Given the description of an element on the screen output the (x, y) to click on. 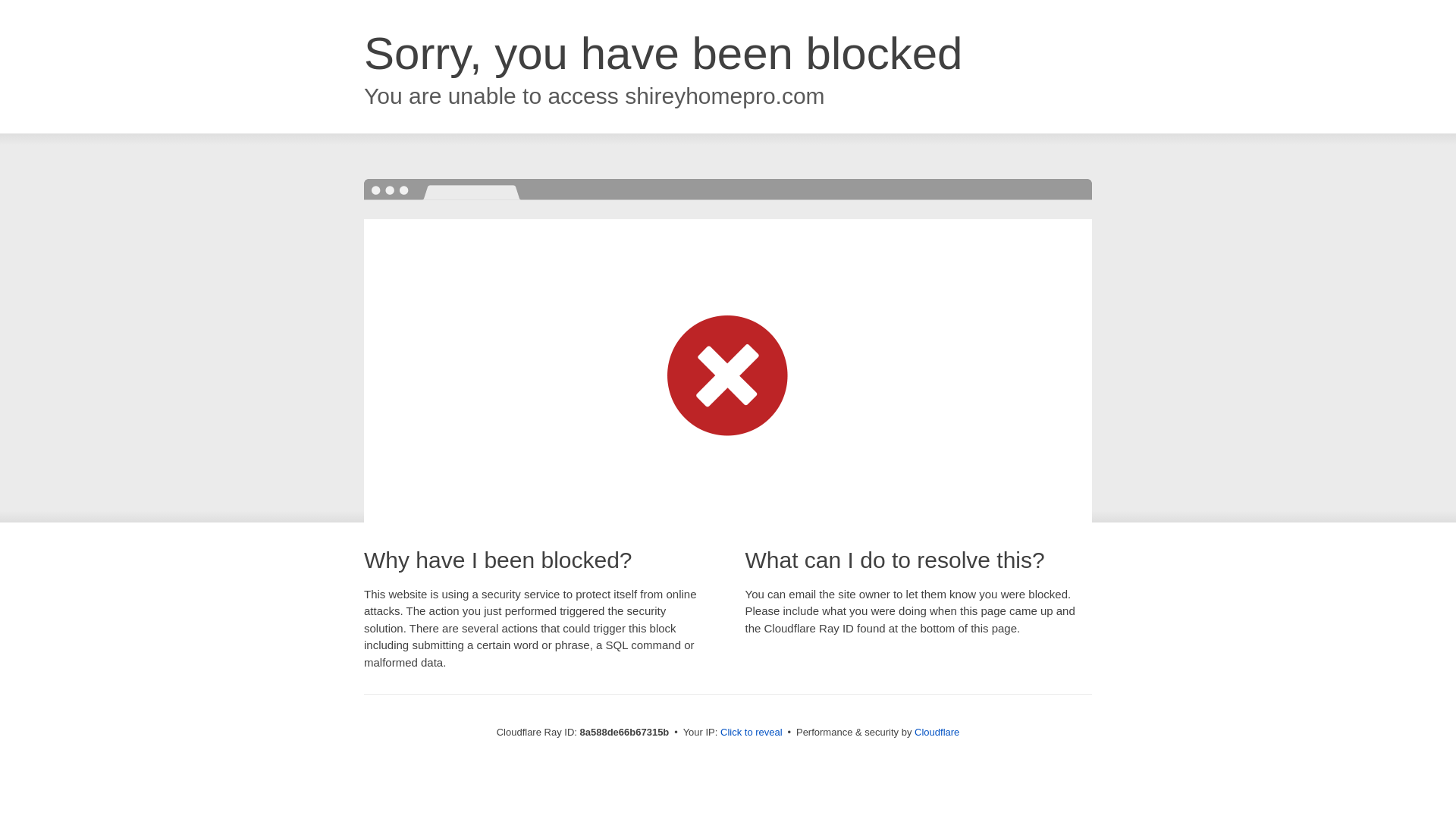
Cloudflare (936, 731)
Click to reveal (751, 732)
